Given the description of an element on the screen output the (x, y) to click on. 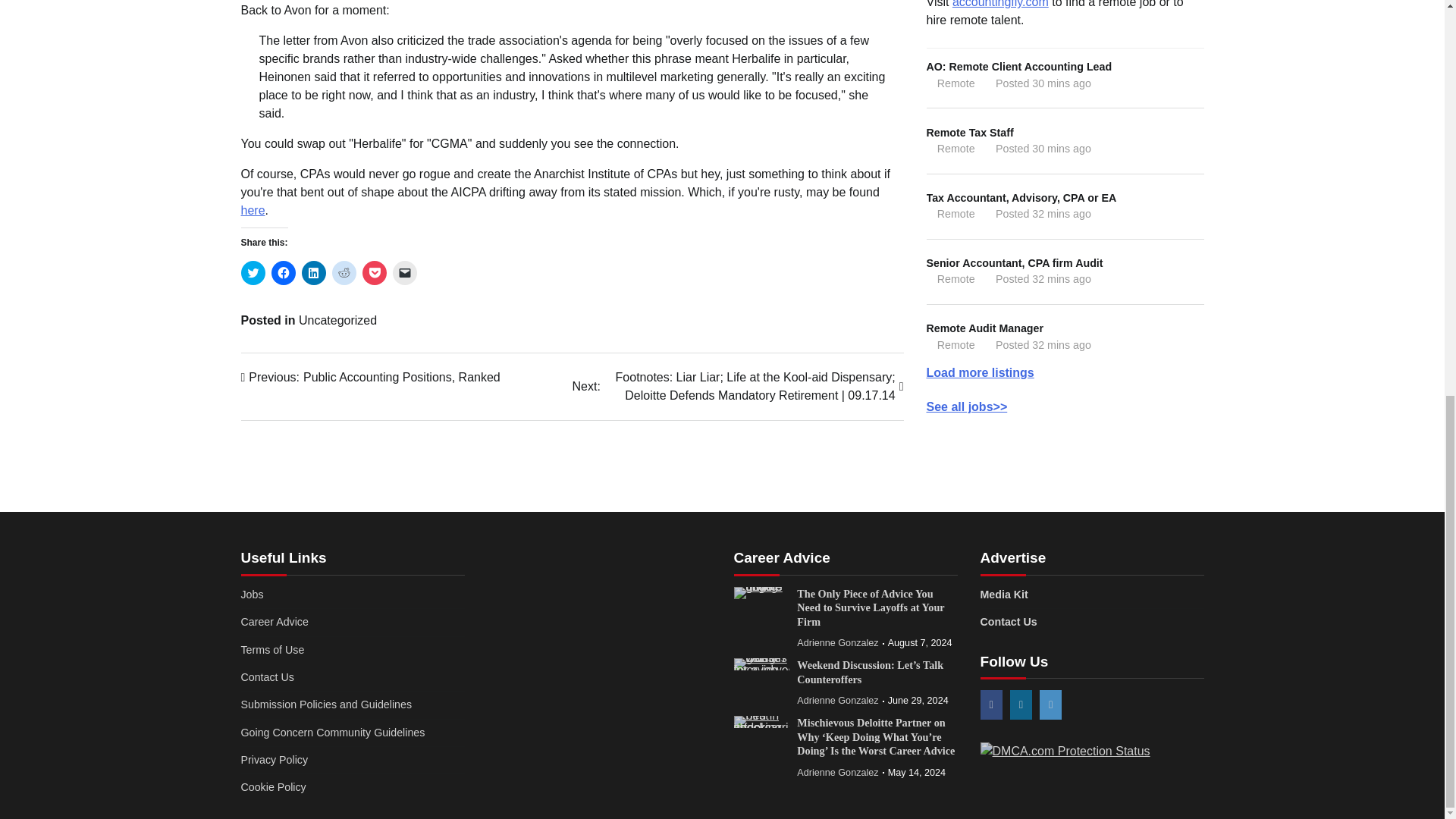
Click to email a link to a friend (404, 273)
Click to share on Facebook (282, 273)
Click to share on LinkedIn (313, 273)
Click to share on Pocket (374, 273)
Click to share on Reddit (343, 273)
Uncategorized (337, 319)
Click to share on Twitter (252, 273)
here (252, 210)
